Given the description of an element on the screen output the (x, y) to click on. 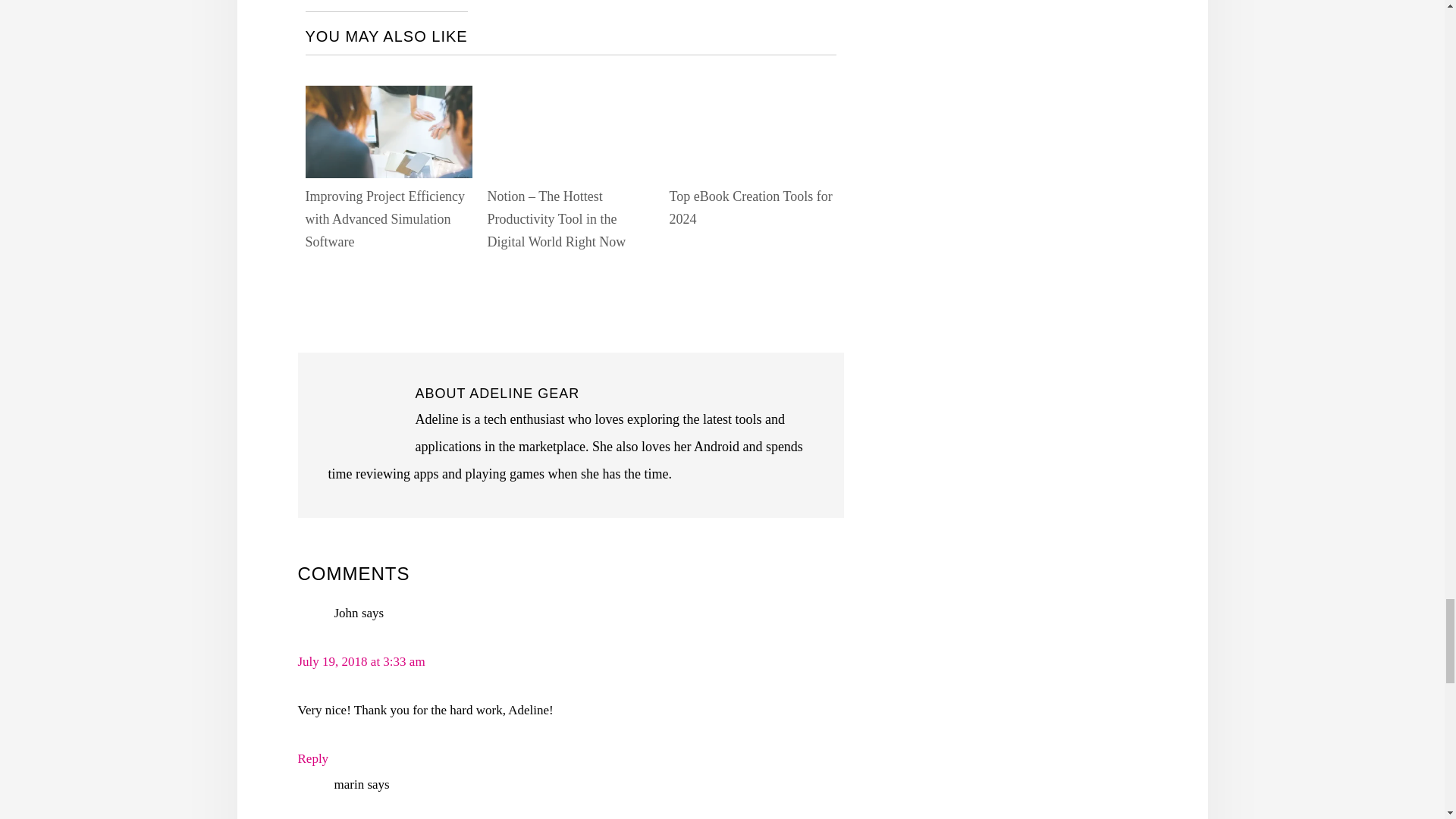
Permanent Link to Top eBook Creation Tools for 2024 (751, 97)
Permanent Link to Top eBook Creation Tools for 2024 (749, 207)
